Given the description of an element on the screen output the (x, y) to click on. 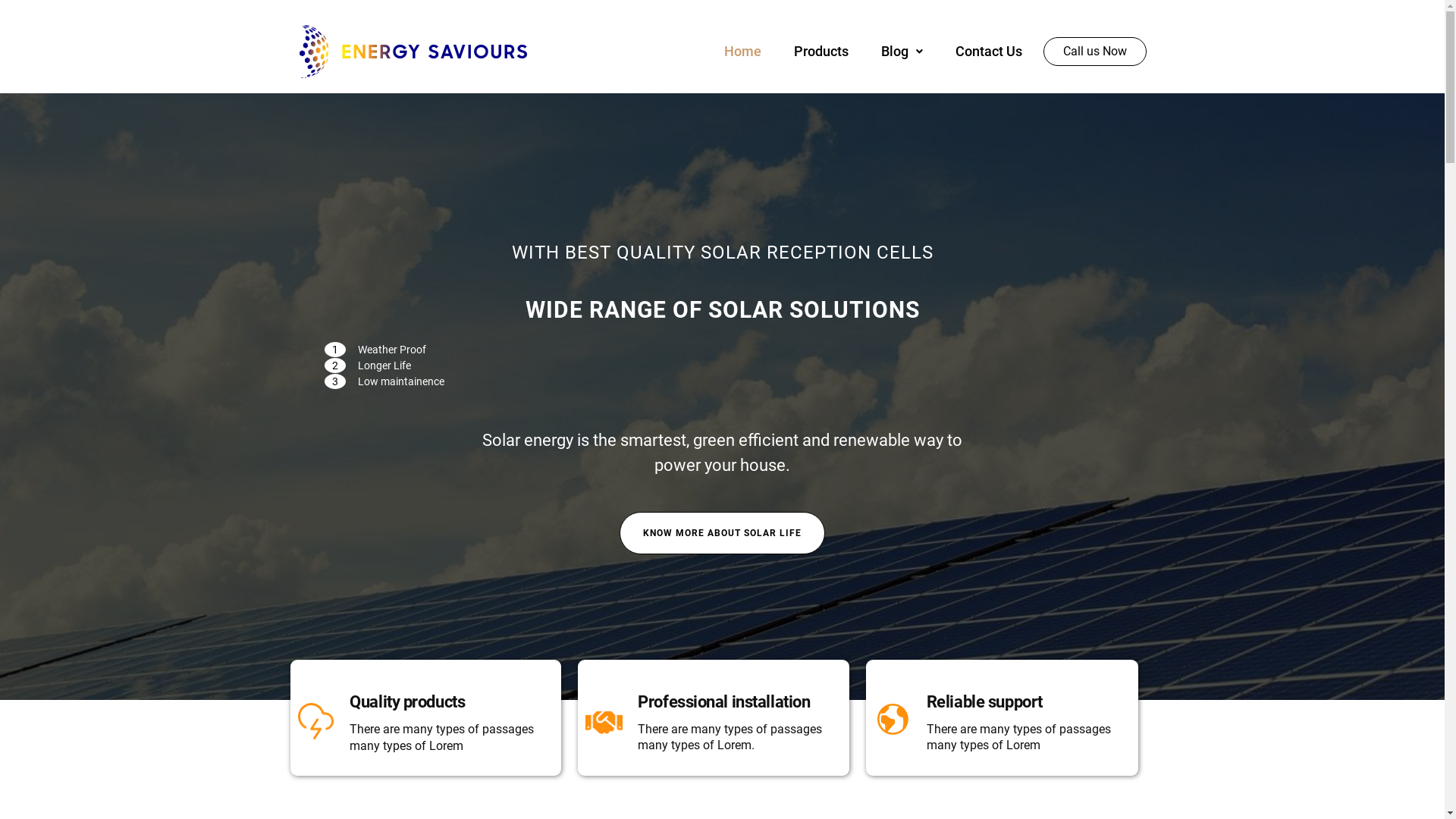
Call us Now Element type: text (1094, 51)
KNOW MORE ABOUT SOLAR LIFE Element type: text (722, 532)
Blog Element type: text (901, 51)
Products Element type: text (820, 51)
Contact Us Element type: text (988, 51)
Home Element type: text (742, 51)
